Given the description of an element on the screen output the (x, y) to click on. 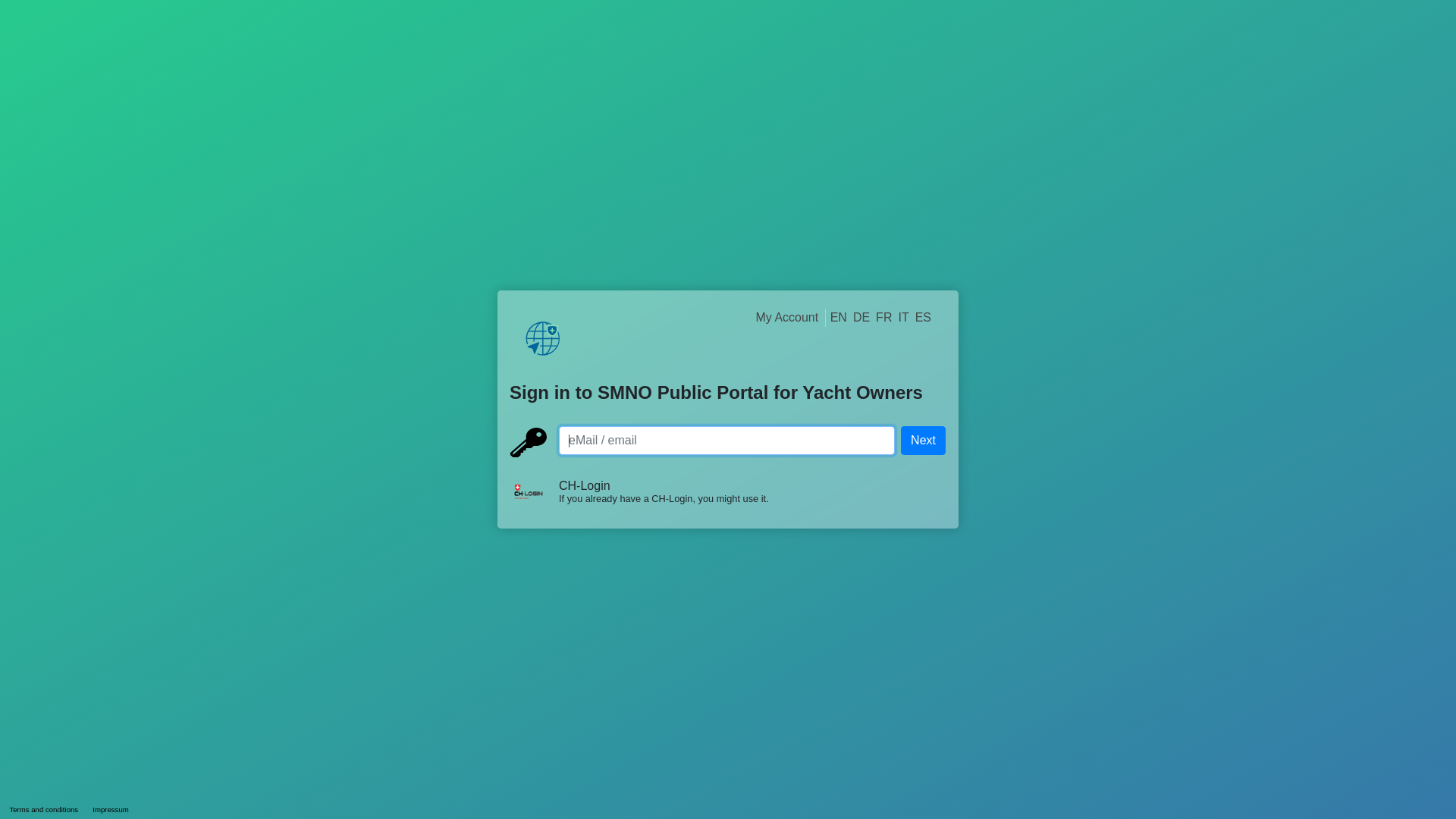
ES Element type: text (923, 316)
DE Element type: text (861, 316)
Next Element type: text (922, 440)
FR Element type: text (883, 316)
IT Element type: text (902, 316)
My Account Element type: text (786, 316)
EN Element type: text (838, 316)
